Given the description of an element on the screen output the (x, y) to click on. 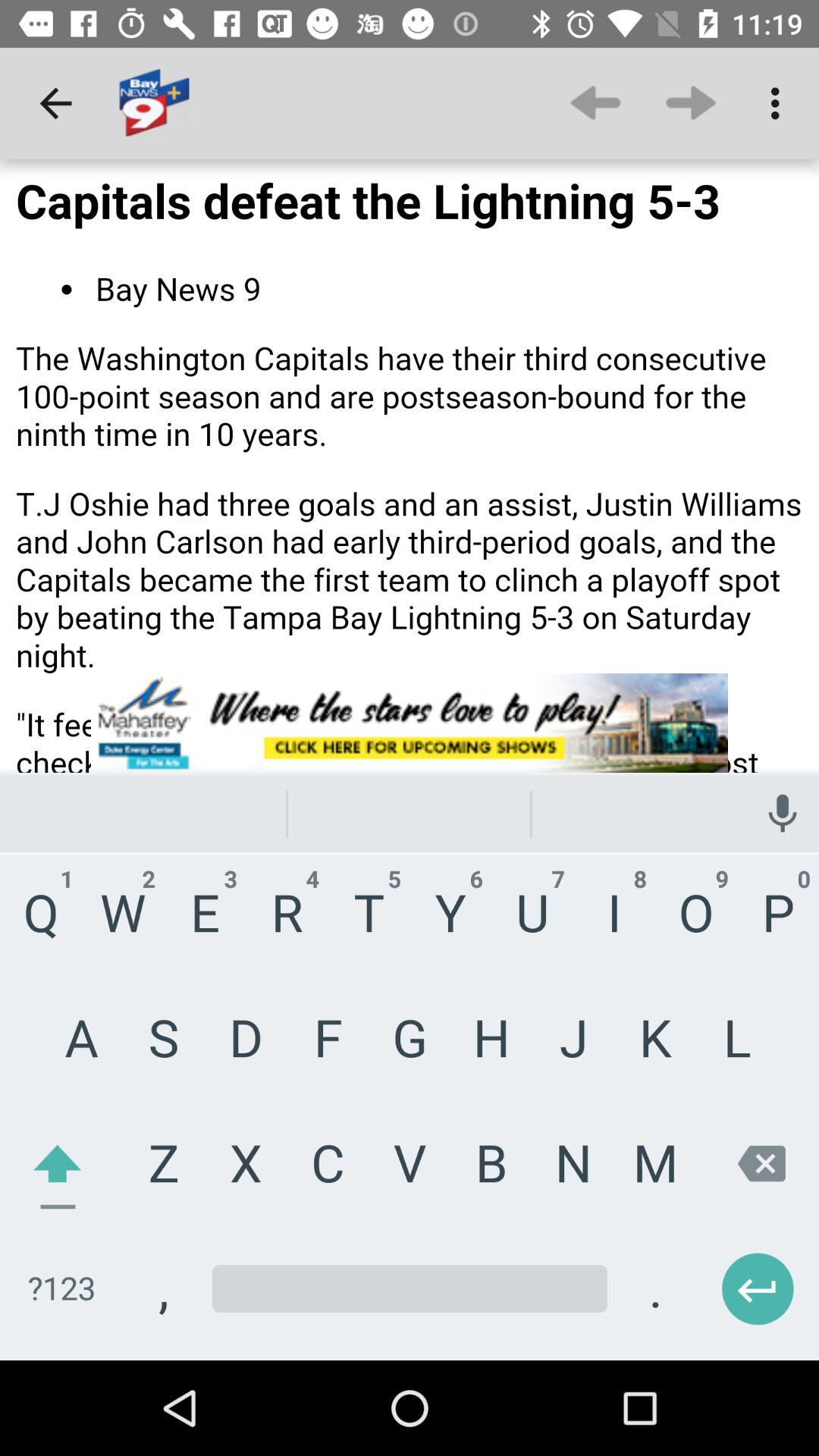
type in this space (409, 1310)
